Given the description of an element on the screen output the (x, y) to click on. 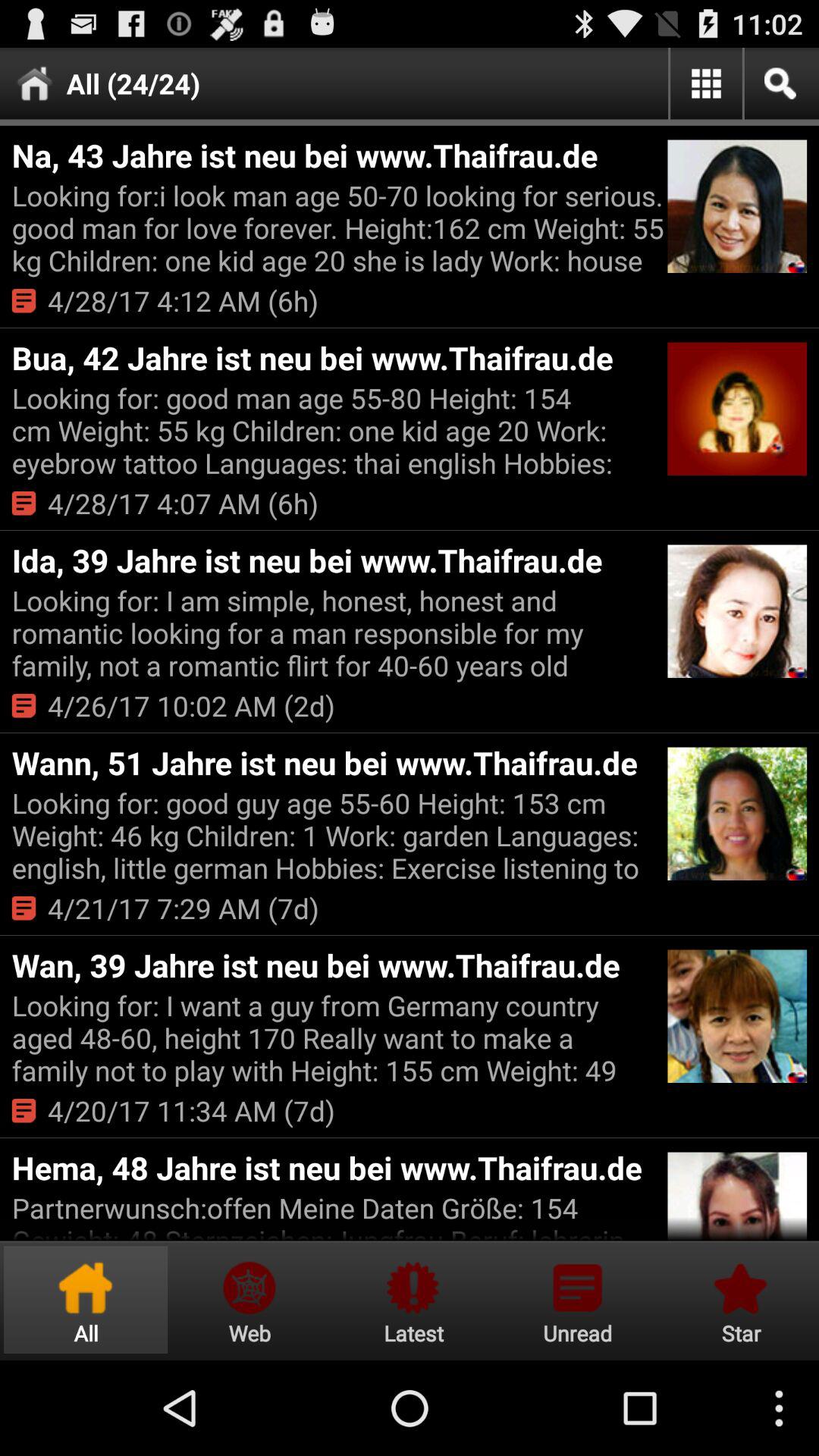
turn off partnerwunsch offen meine (337, 1215)
